Given the description of an element on the screen output the (x, y) to click on. 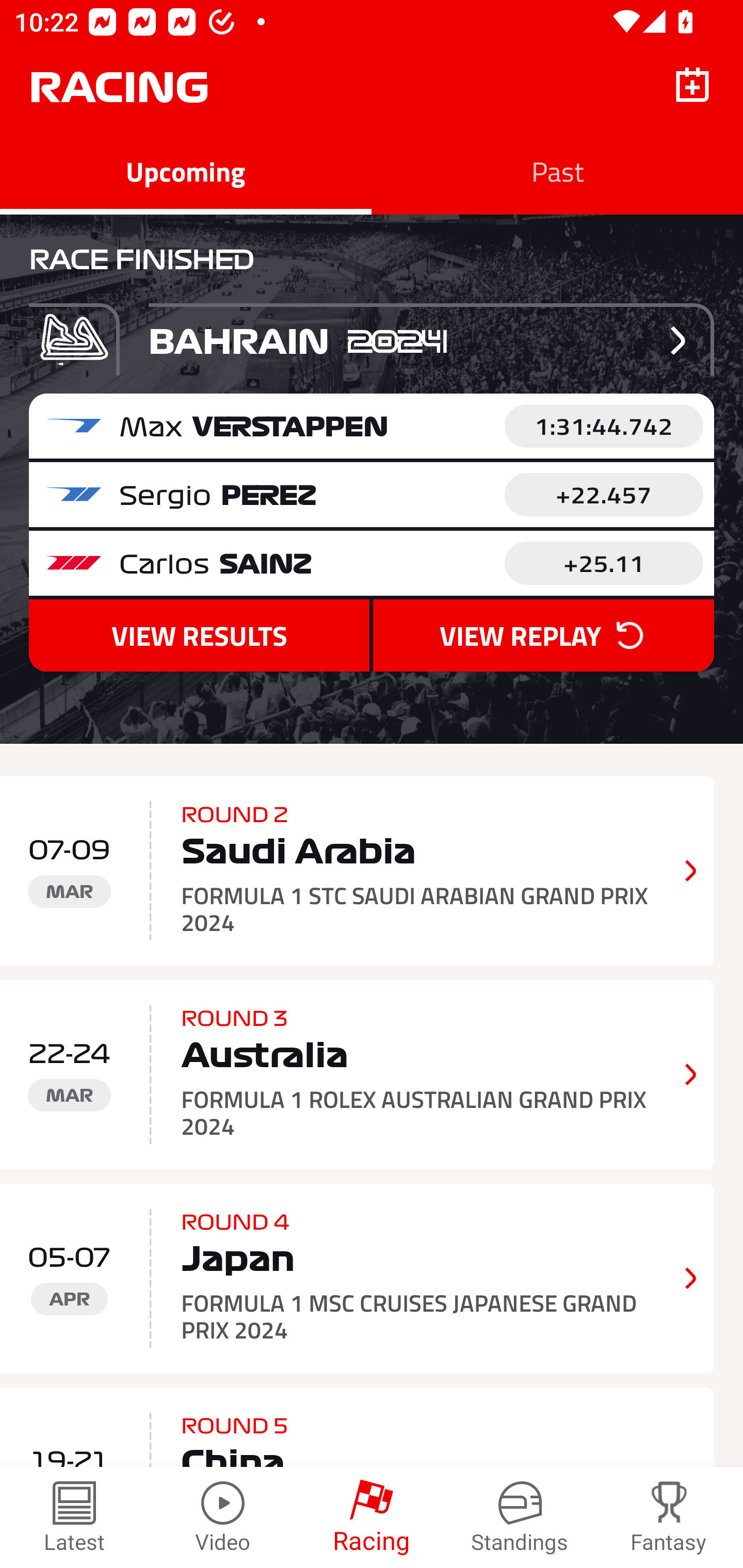
Past (557, 171)
VIEW RESULTS (198, 634)
VIEW REPLAY (543, 634)
Latest (74, 1517)
Video (222, 1517)
Standings (519, 1517)
Fantasy (668, 1517)
